Given the description of an element on the screen output the (x, y) to click on. 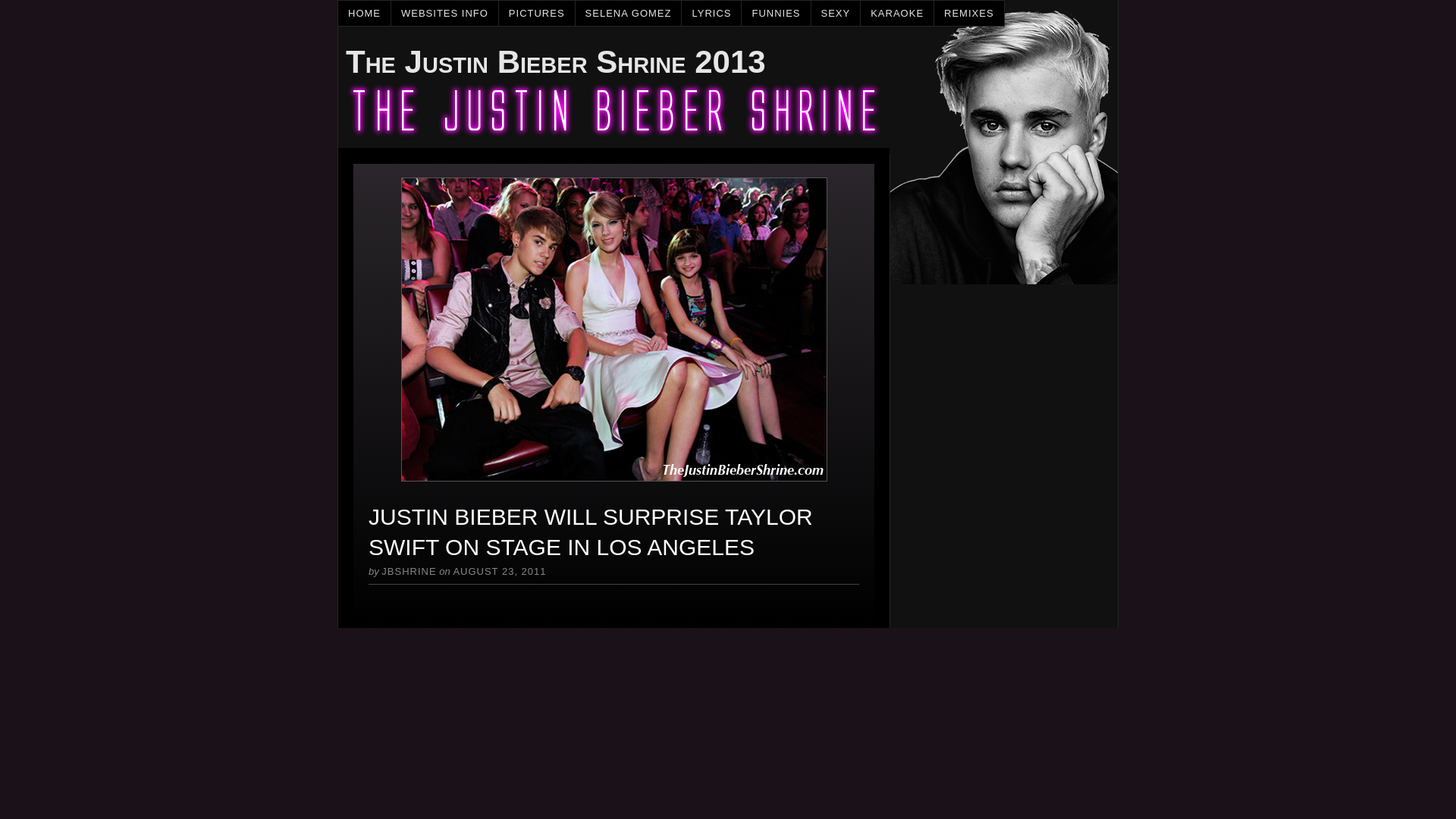
HOME (364, 13)
WEBSITES INFO (445, 13)
KARAOKE (897, 13)
PICTURES (537, 13)
REMIXES (969, 13)
SEXY (835, 13)
SELENA GOMEZ (628, 13)
LYRICS (711, 13)
2011-08-23 (499, 571)
FUNNIES (775, 13)
